Given the description of an element on the screen output the (x, y) to click on. 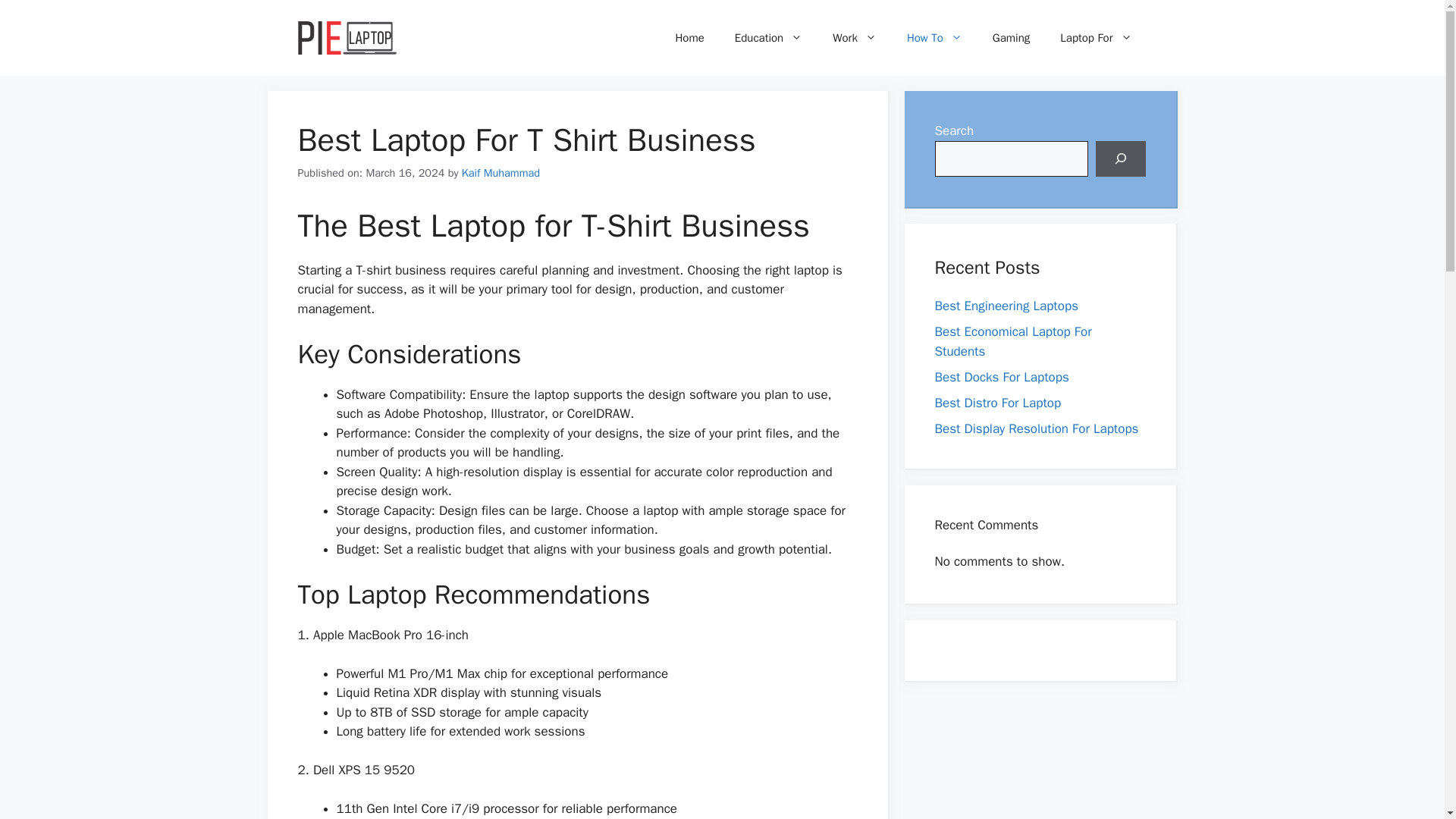
Best Display Resolution For Laptops (1036, 427)
Best Distro For Laptop (997, 401)
Education (767, 37)
Laptop For (1096, 37)
Gaming (1010, 37)
Best Economical Laptop For Students (1012, 341)
Home (689, 37)
How To (933, 37)
Work (853, 37)
Kaif Muhammad (500, 172)
